Given the description of an element on the screen output the (x, y) to click on. 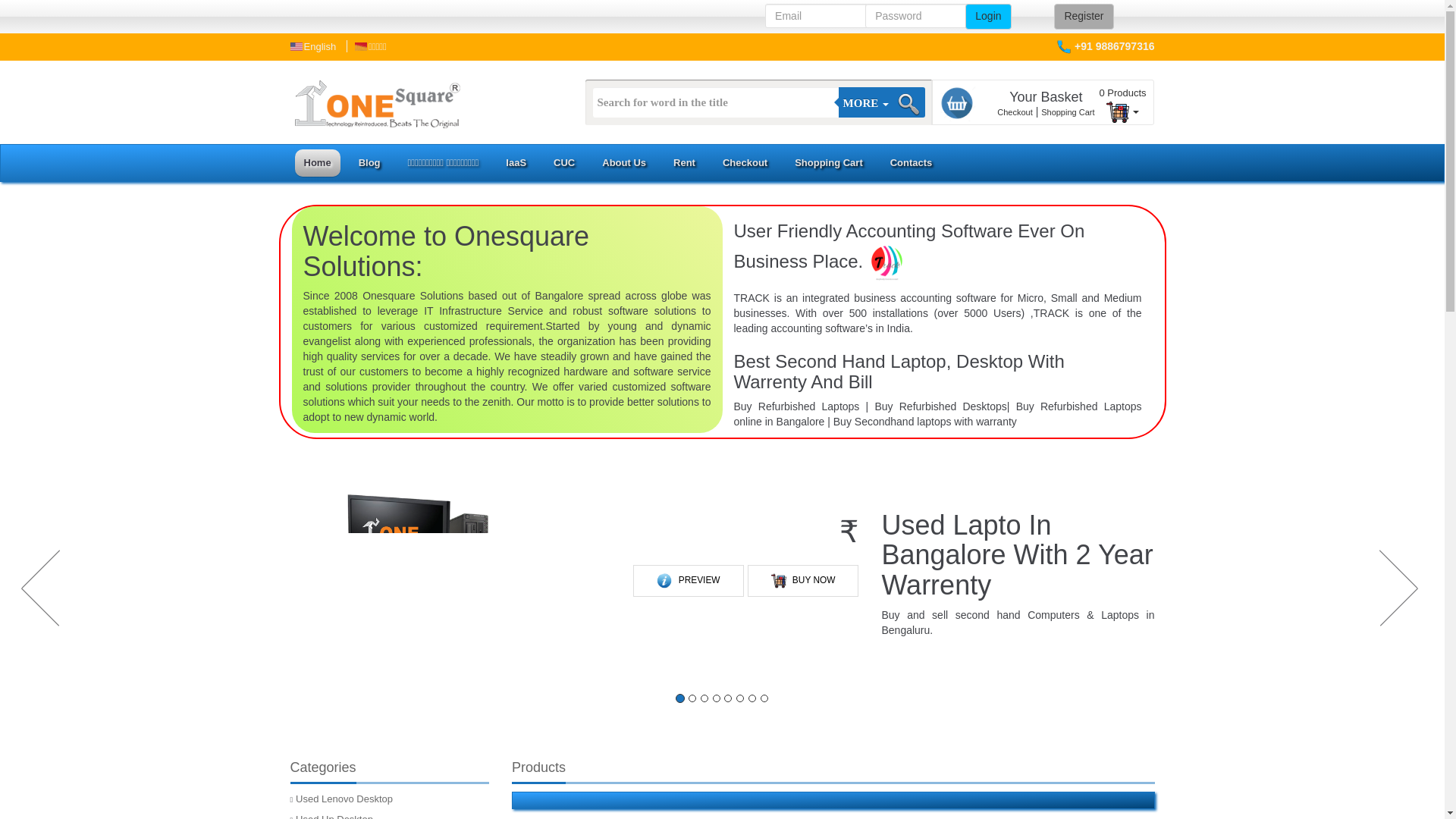
About Us (623, 162)
BUY NOW (803, 581)
Register (1083, 16)
Shopping Cart (1067, 112)
MORE (865, 101)
Checkout (1014, 112)
Rent (683, 162)
Shopping Cart (829, 162)
0 Products (1122, 101)
CUC (563, 162)
